Given the description of an element on the screen output the (x, y) to click on. 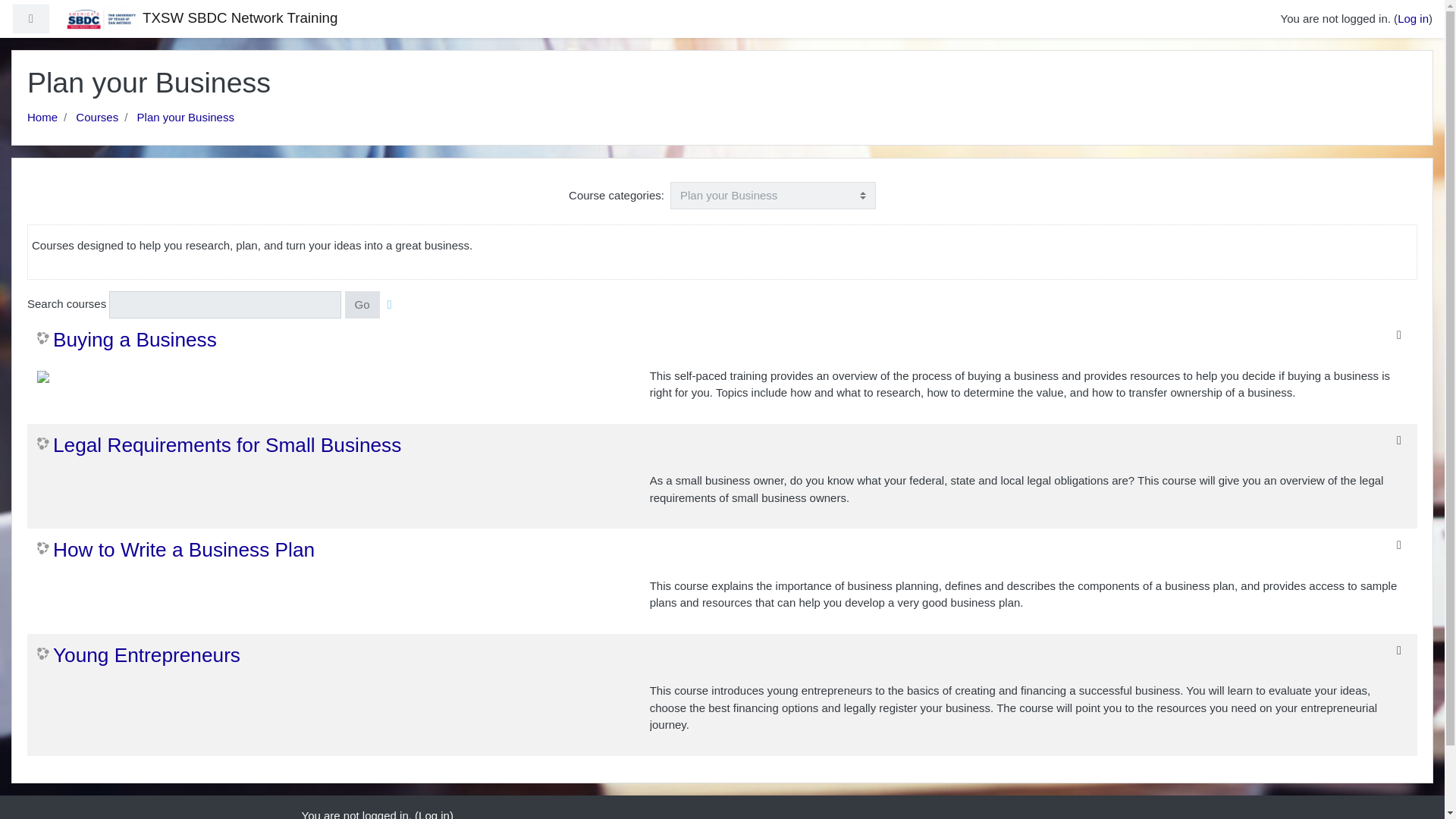
How to Write a Business Plan (175, 550)
Legal Requirements for Small Business (219, 445)
Self enrolment (1399, 544)
Young Entrepreneurs (138, 654)
Go (362, 305)
Self enrolment (1399, 650)
TXSW SBDC Network Training (201, 18)
Plan your Business (185, 116)
Side panel (30, 19)
Log in (1412, 18)
Help with Search courses (390, 304)
Self enrolment (1399, 439)
Home (42, 116)
Buying a Business (126, 340)
Courses (96, 116)
